Given the description of an element on the screen output the (x, y) to click on. 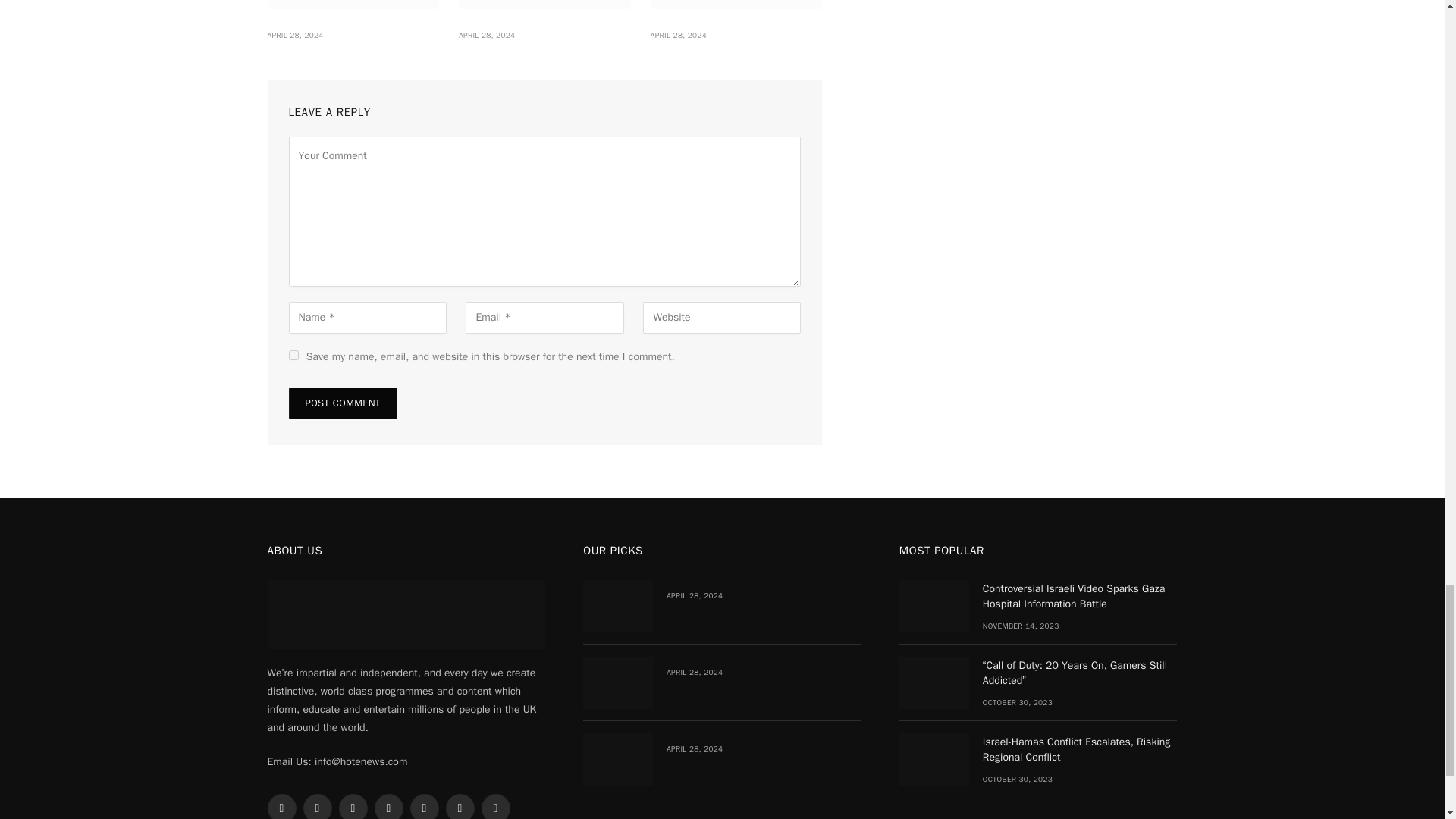
Post Comment (342, 403)
yes (293, 355)
